Given the description of an element on the screen output the (x, y) to click on. 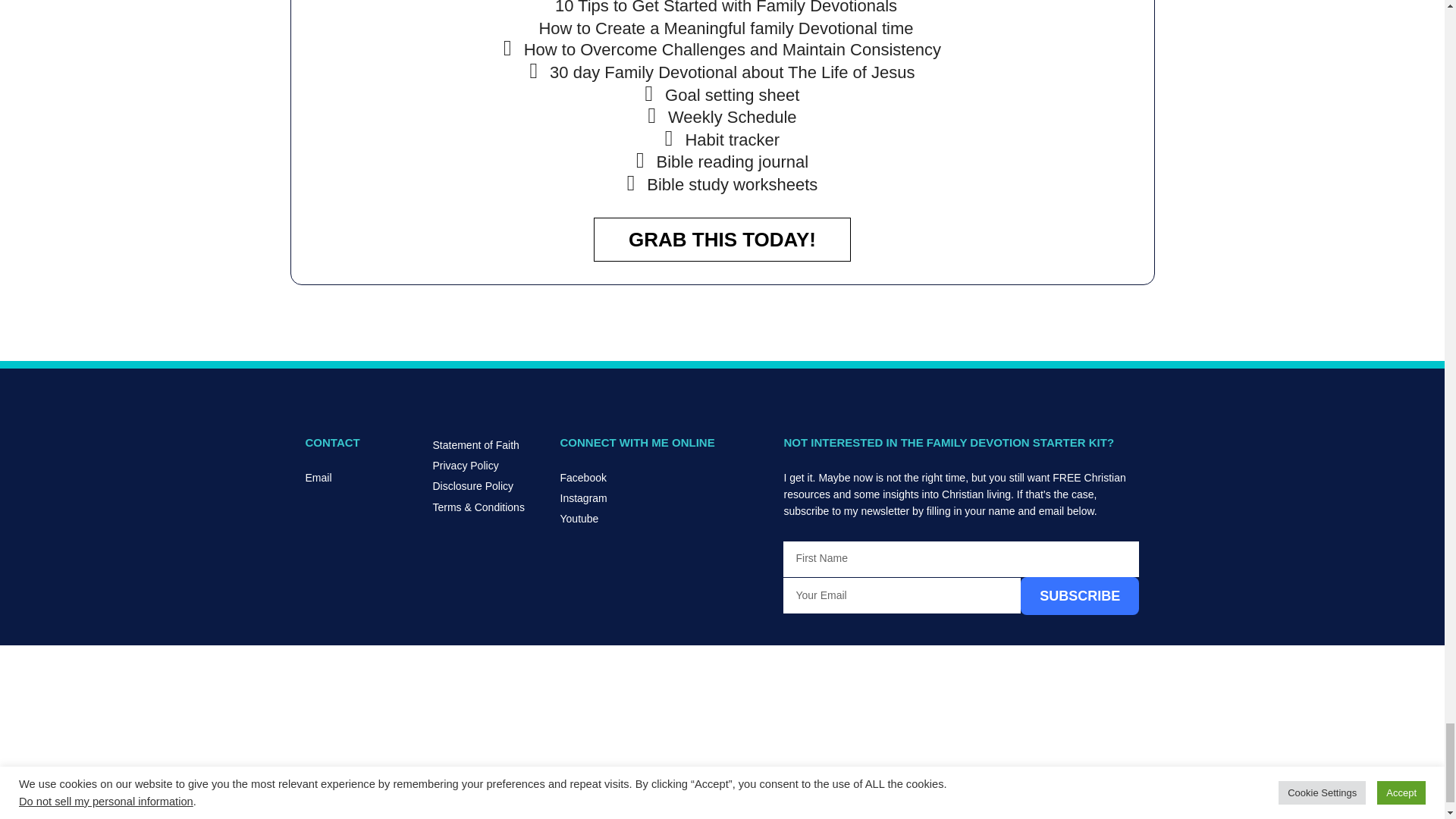
Statement of Faith (488, 444)
Disclosure Policy (488, 485)
Email (360, 477)
Facebook (663, 477)
GRAB THIS TODAY! (722, 239)
Privacy Policy (488, 465)
Instagram (663, 497)
SUBSCRIBE (1079, 596)
Youtube (663, 518)
